Given the description of an element on the screen output the (x, y) to click on. 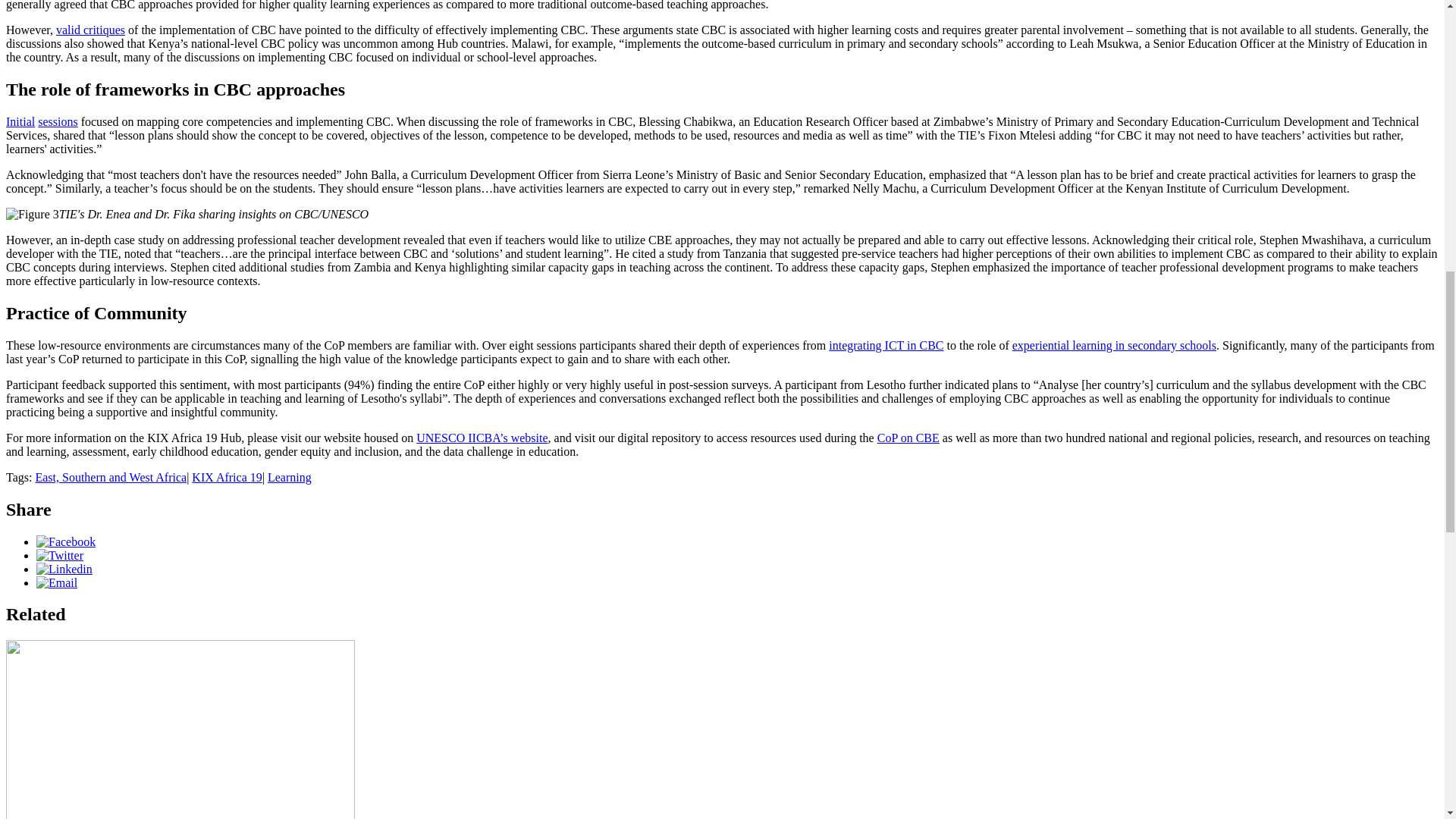
experiential learning in secondary schools (1113, 345)
Initial (19, 121)
Linkedin (64, 568)
valid critiques (90, 29)
integrating ICT in CBC (885, 345)
sessions (57, 121)
KIX Africa 19 (227, 477)
Facebook (66, 541)
CoP on CBE (908, 437)
Email (56, 582)
East, Southern and West Africa (110, 477)
Learning (289, 477)
Twitter (59, 554)
